Given the description of an element on the screen output the (x, y) to click on. 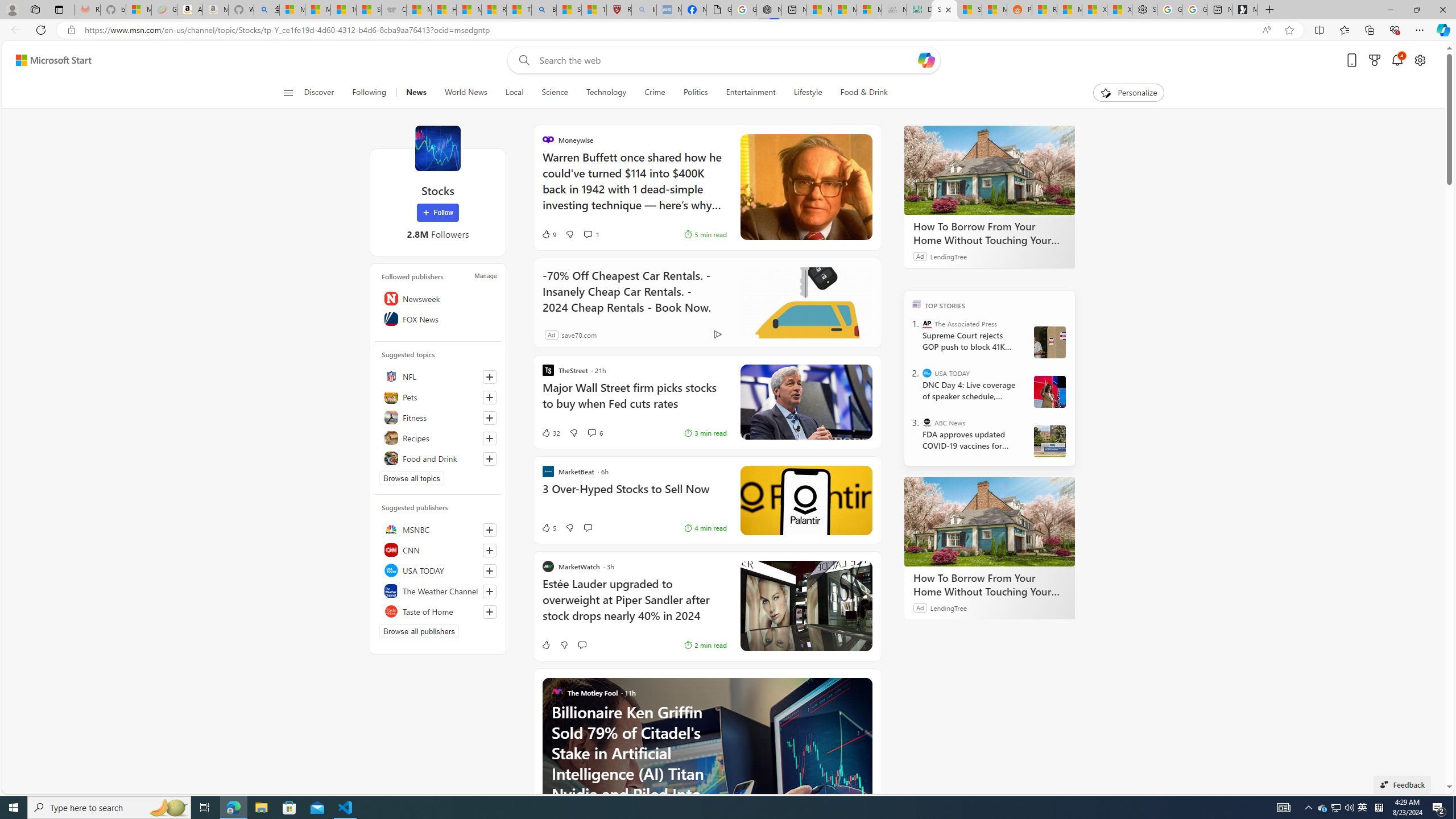
Navy Quest (893, 9)
Food & Drink (864, 92)
Dislike (563, 645)
TOP (916, 302)
32 Like (549, 432)
Following (370, 92)
Lifestyle (807, 92)
list of asthma inhalers uk - Search - Sleeping (643, 9)
FOX News (437, 318)
USA TODAY (927, 372)
